Given the description of an element on the screen output the (x, y) to click on. 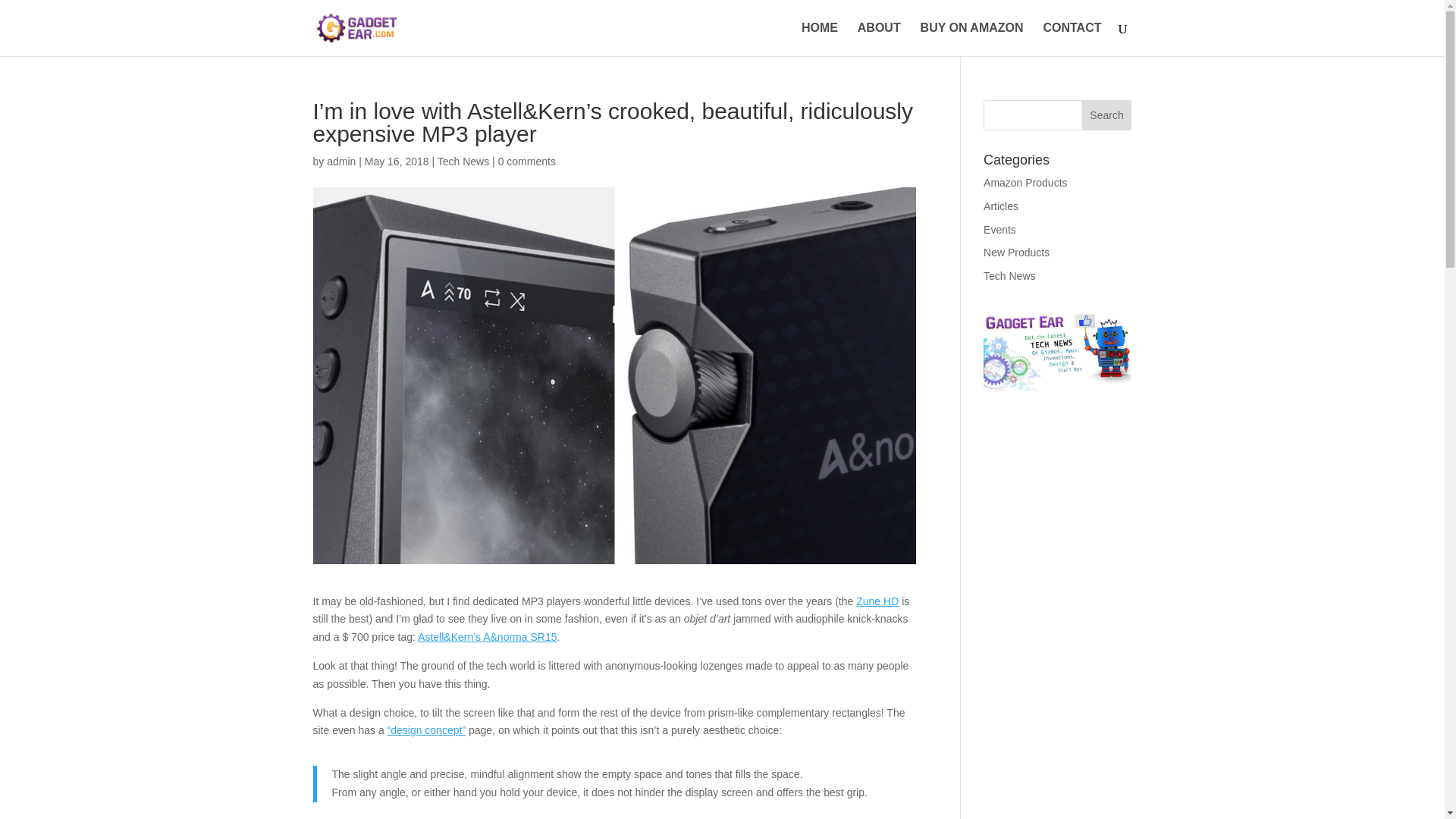
Posts by admin (340, 161)
0 comments (526, 161)
Amazon Products (1025, 182)
HOME (820, 39)
Tech News (463, 161)
Search (1106, 114)
New Products (1016, 252)
CONTACT (1071, 39)
Events (1000, 229)
BUY ON AMAZON (971, 39)
admin (340, 161)
Search (1106, 114)
Articles (1000, 205)
Tech News (1009, 275)
ABOUT (879, 39)
